Given the description of an element on the screen output the (x, y) to click on. 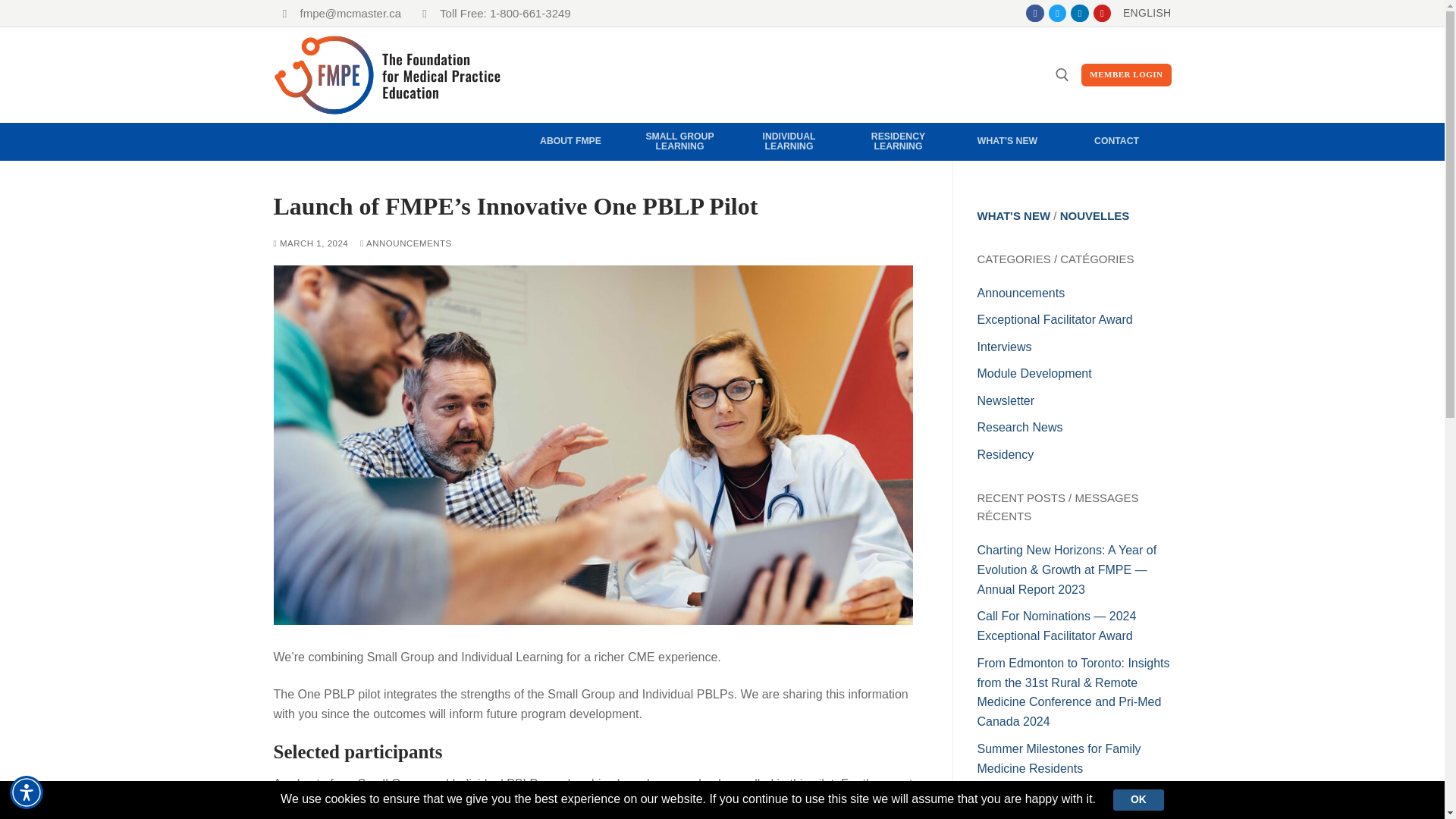
SMALL GROUP LEARNING (678, 141)
Toll Free: 1-800-661-3249 (491, 12)
English (1147, 12)
Accessibility Menu (26, 792)
RESIDENCY LEARNING (897, 141)
Linkedin (1079, 13)
INDIVIDUAL LEARNING (788, 141)
Youtube (1101, 13)
Twitter (1057, 13)
Facebook (1035, 13)
ABOUT FMPE (570, 141)
MEMBER LOGIN (1125, 74)
